Given the description of an element on the screen output the (x, y) to click on. 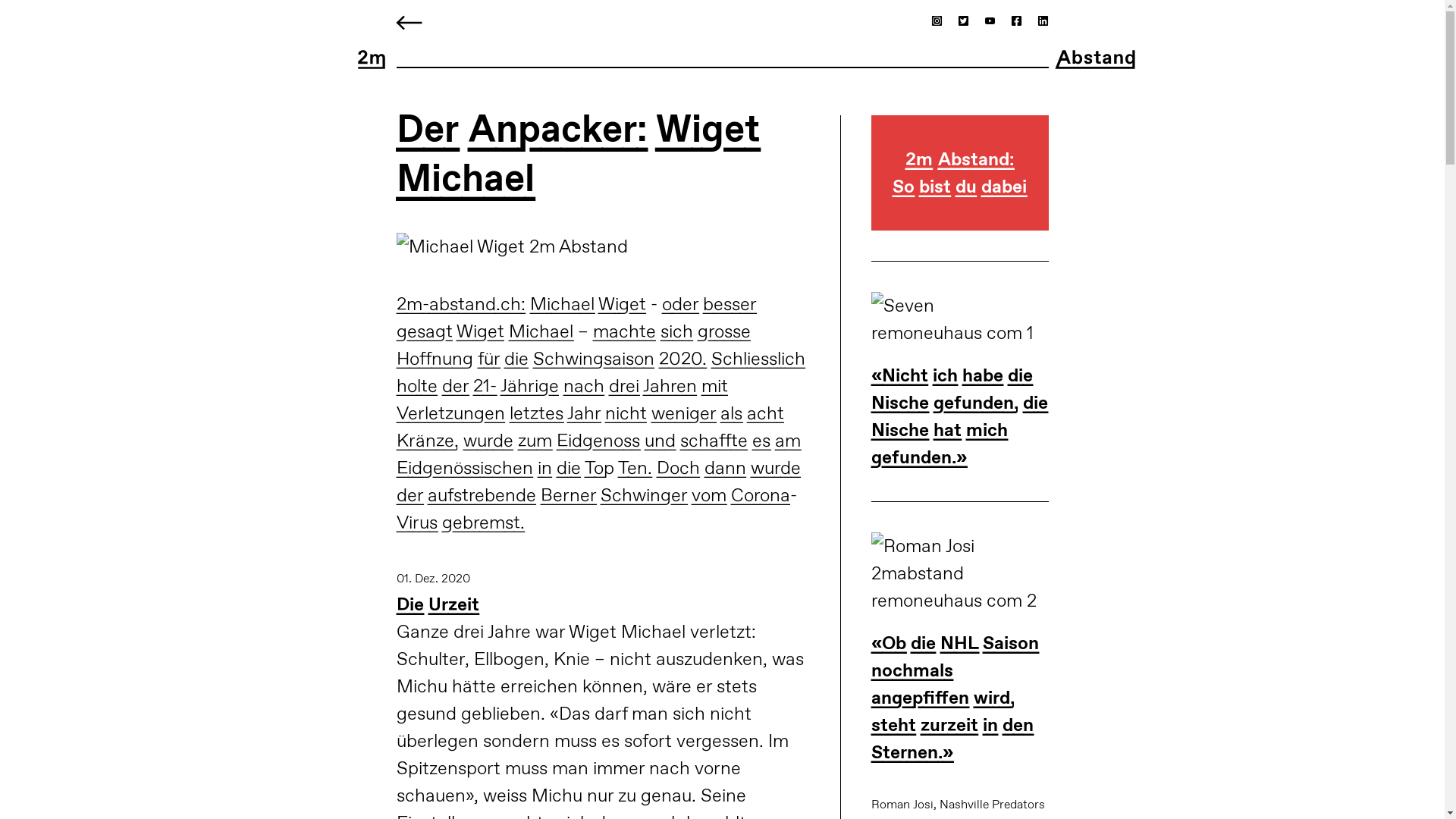
2m Abstand:
So bist du dabei Element type: text (959, 188)
